Given the description of an element on the screen output the (x, y) to click on. 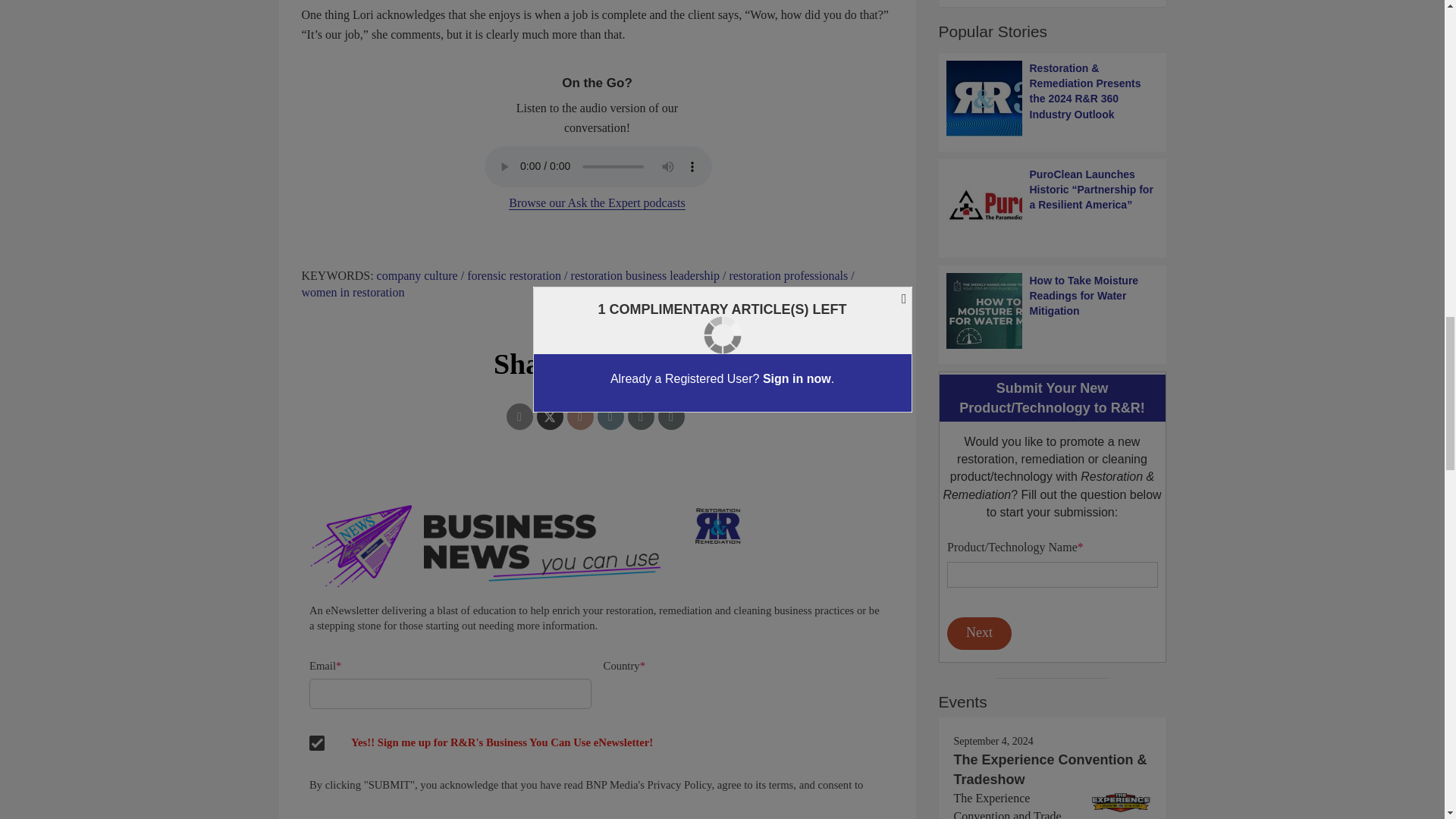
How to Take Moisture Readings for Water Mitigation (1052, 310)
Interaction questions (1051, 594)
